Given the description of an element on the screen output the (x, y) to click on. 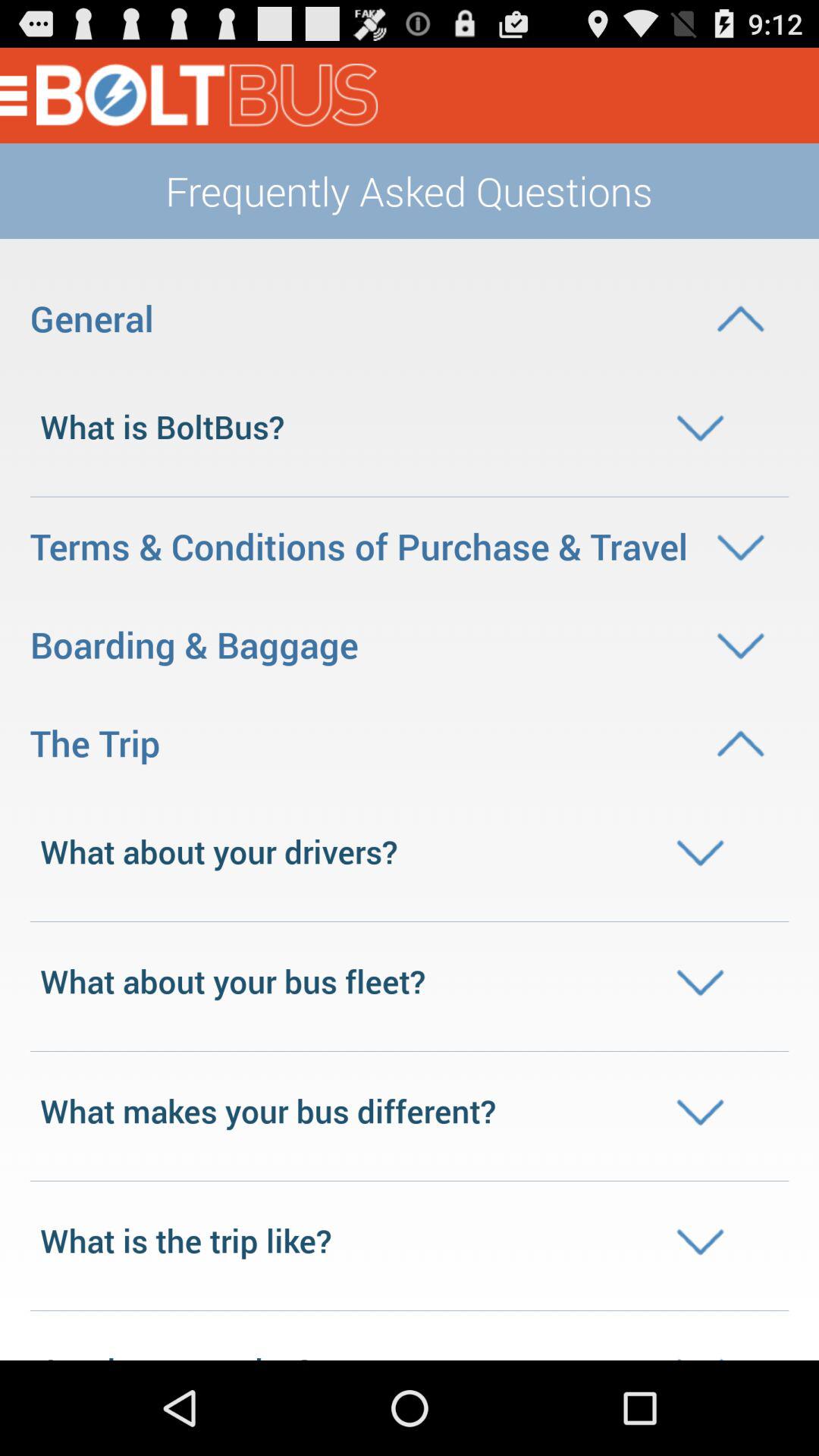
click on what about your drivers (409, 851)
click on the boarding  baggage option (409, 644)
click on what is boltbus below general (409, 427)
click on what about your bus fleet  (409, 981)
select the drop down text which is bottom of the page (409, 1240)
select the text general (409, 318)
